Given the description of an element on the screen output the (x, y) to click on. 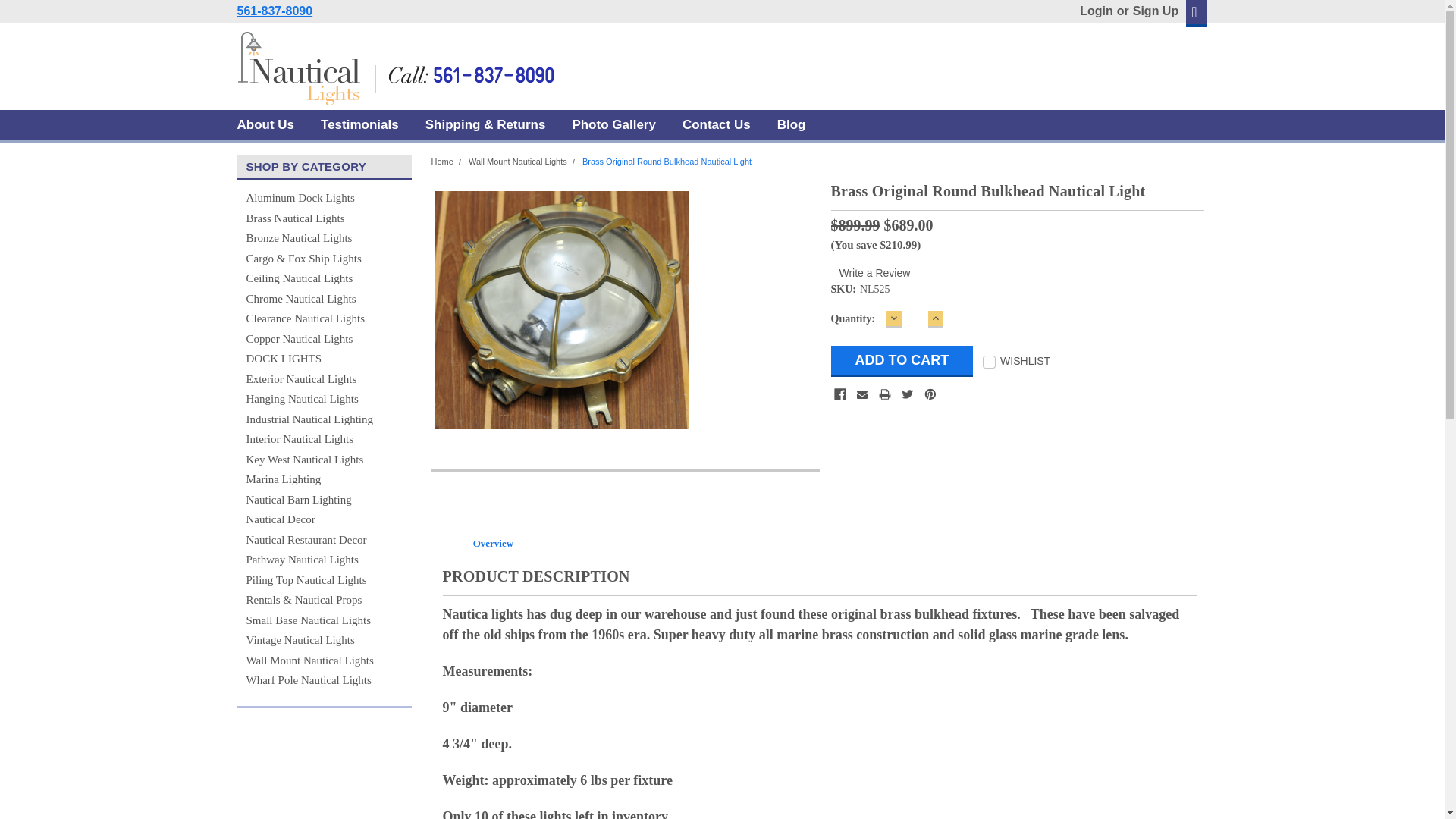
Sign Up (1153, 11)
Brass bulkhead ship light (561, 309)
1 (914, 319)
Nautical Lights (394, 67)
561-837-8090 (274, 10)
Add to Cart (902, 360)
Login (1096, 11)
